Given the description of an element on the screen output the (x, y) to click on. 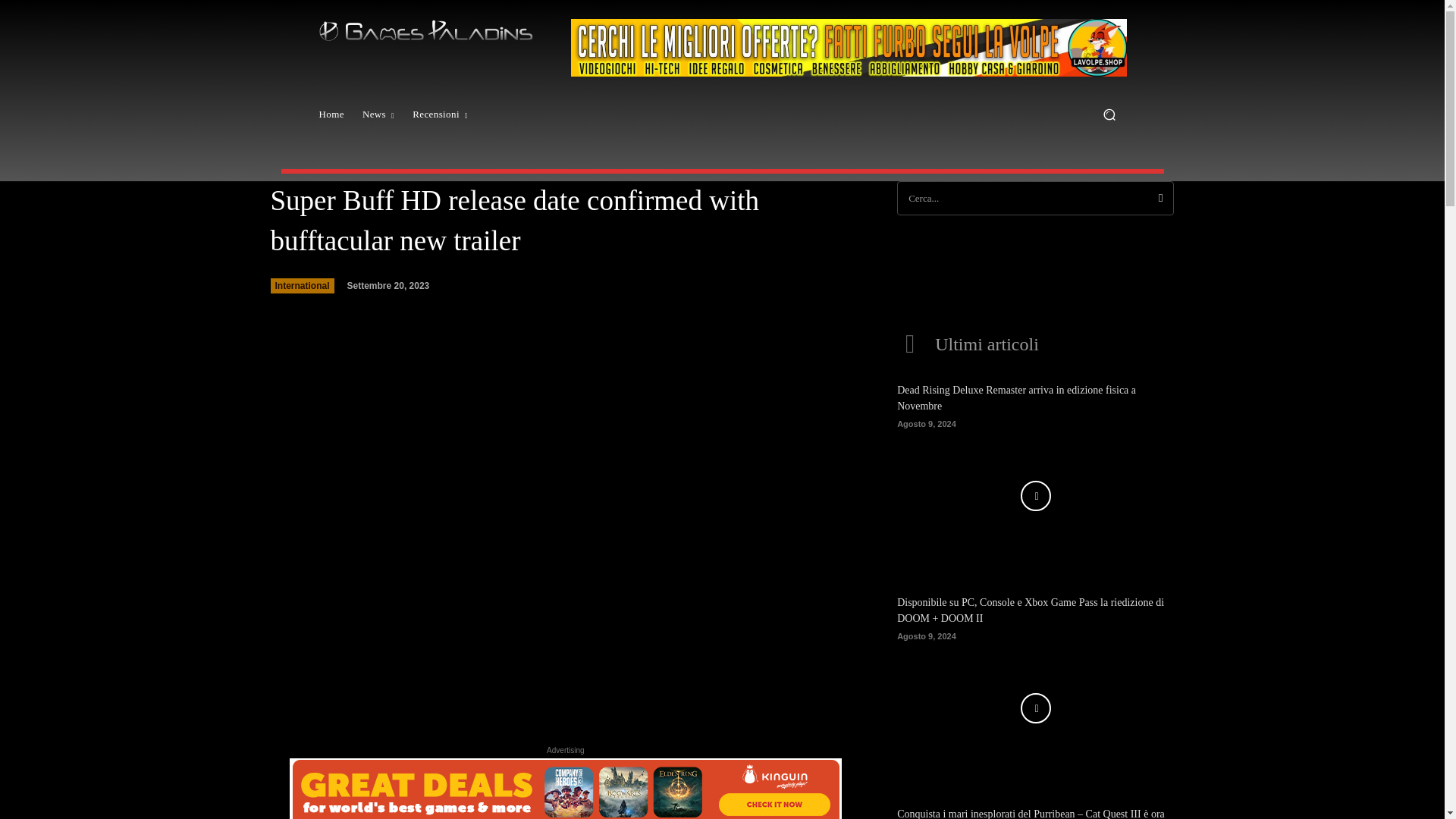
News (378, 114)
Games Paladins - Recensioni e News - Console e PC (425, 29)
Home (330, 114)
Recensioni (440, 114)
